Given the description of an element on the screen output the (x, y) to click on. 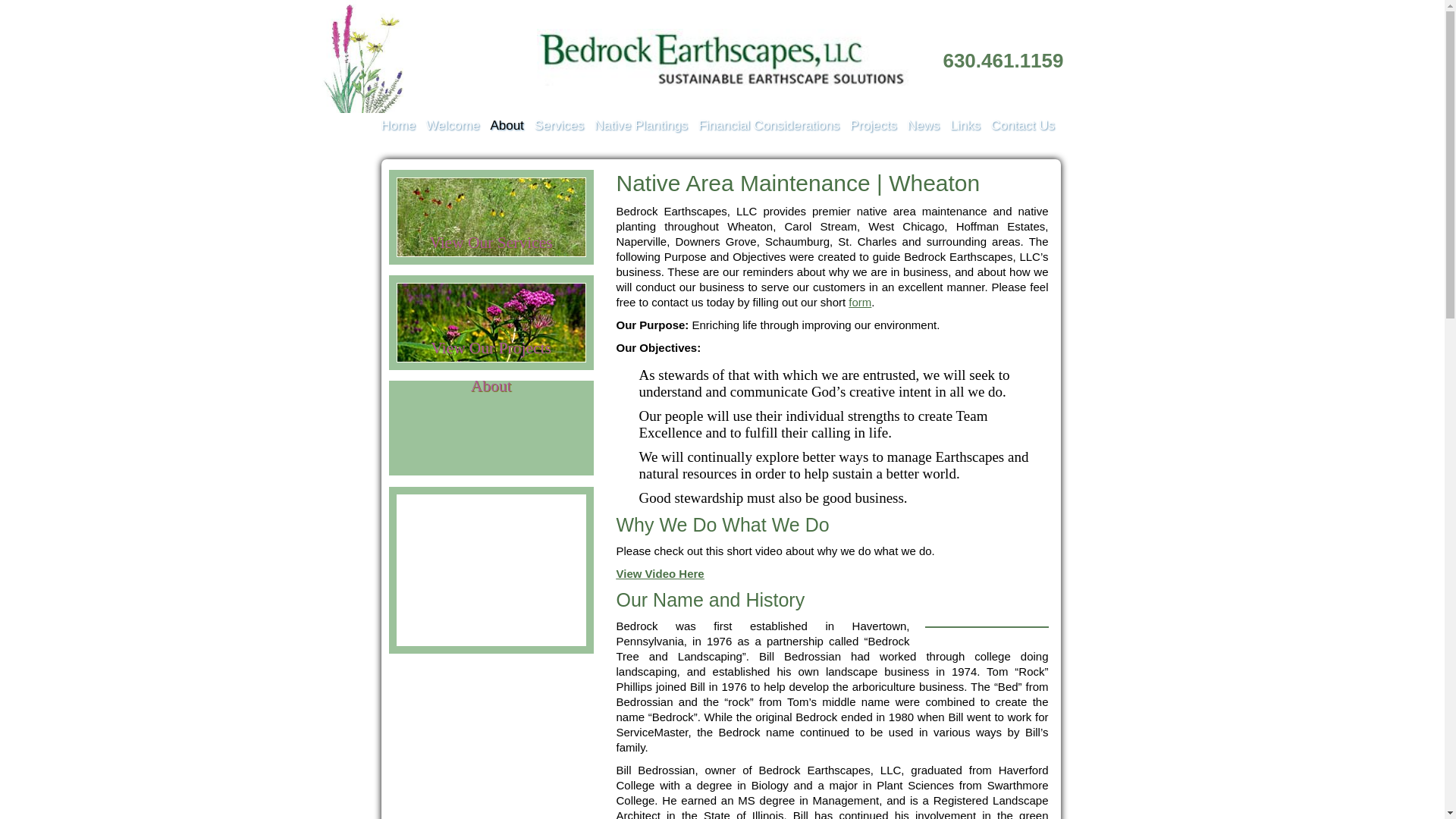
Projects (873, 125)
About (505, 125)
Home (397, 125)
View Our Projects (490, 348)
Welcome (453, 125)
View Video Here (659, 573)
Contact Us (859, 301)
Links (964, 125)
630.461.1159 (1002, 60)
News (923, 125)
Native Plantings (640, 125)
About (490, 385)
Financial Considerations (769, 125)
Services (558, 125)
form (859, 301)
